Given the description of an element on the screen output the (x, y) to click on. 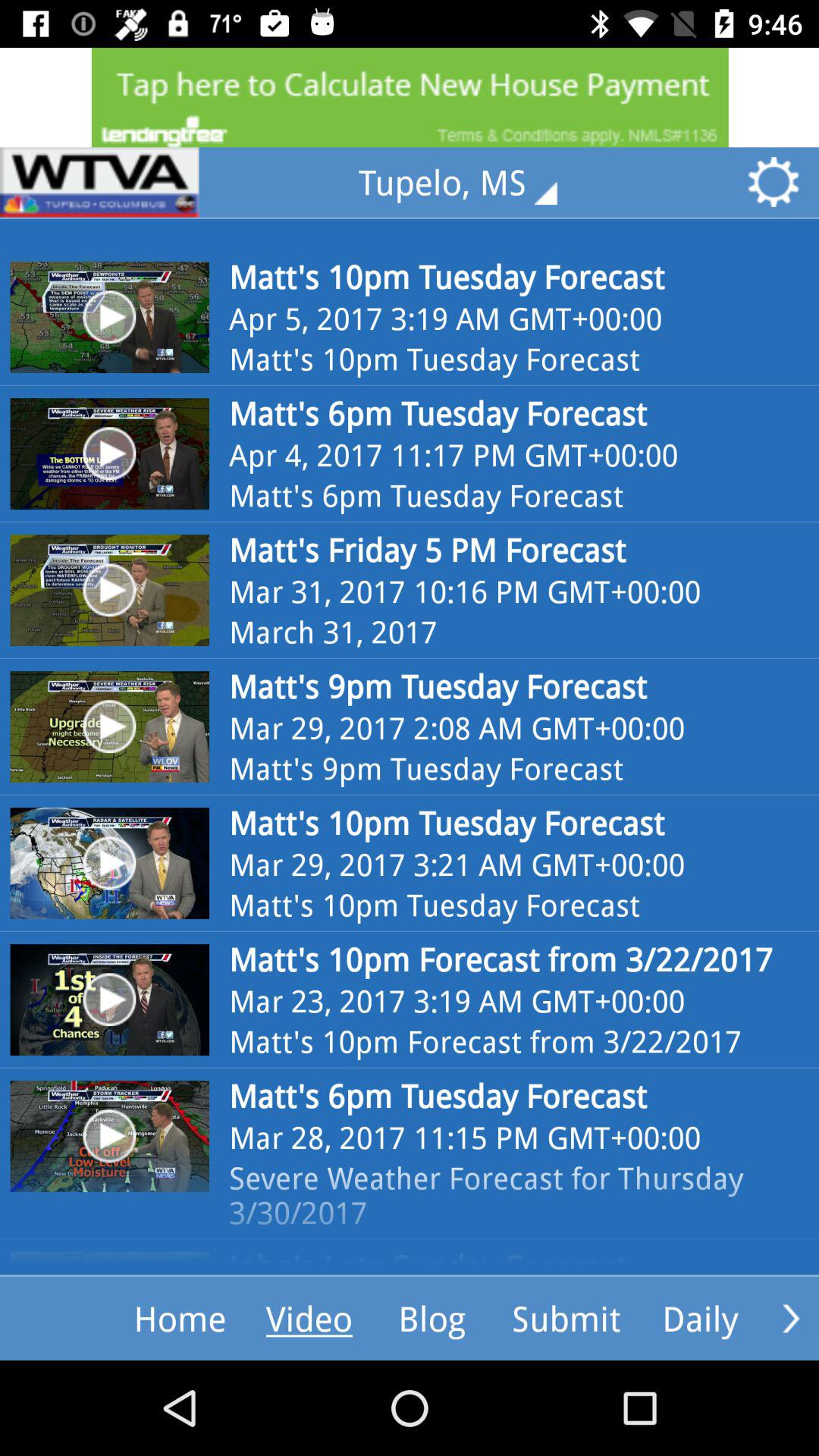
click on advertisement (409, 97)
